Given the description of an element on the screen output the (x, y) to click on. 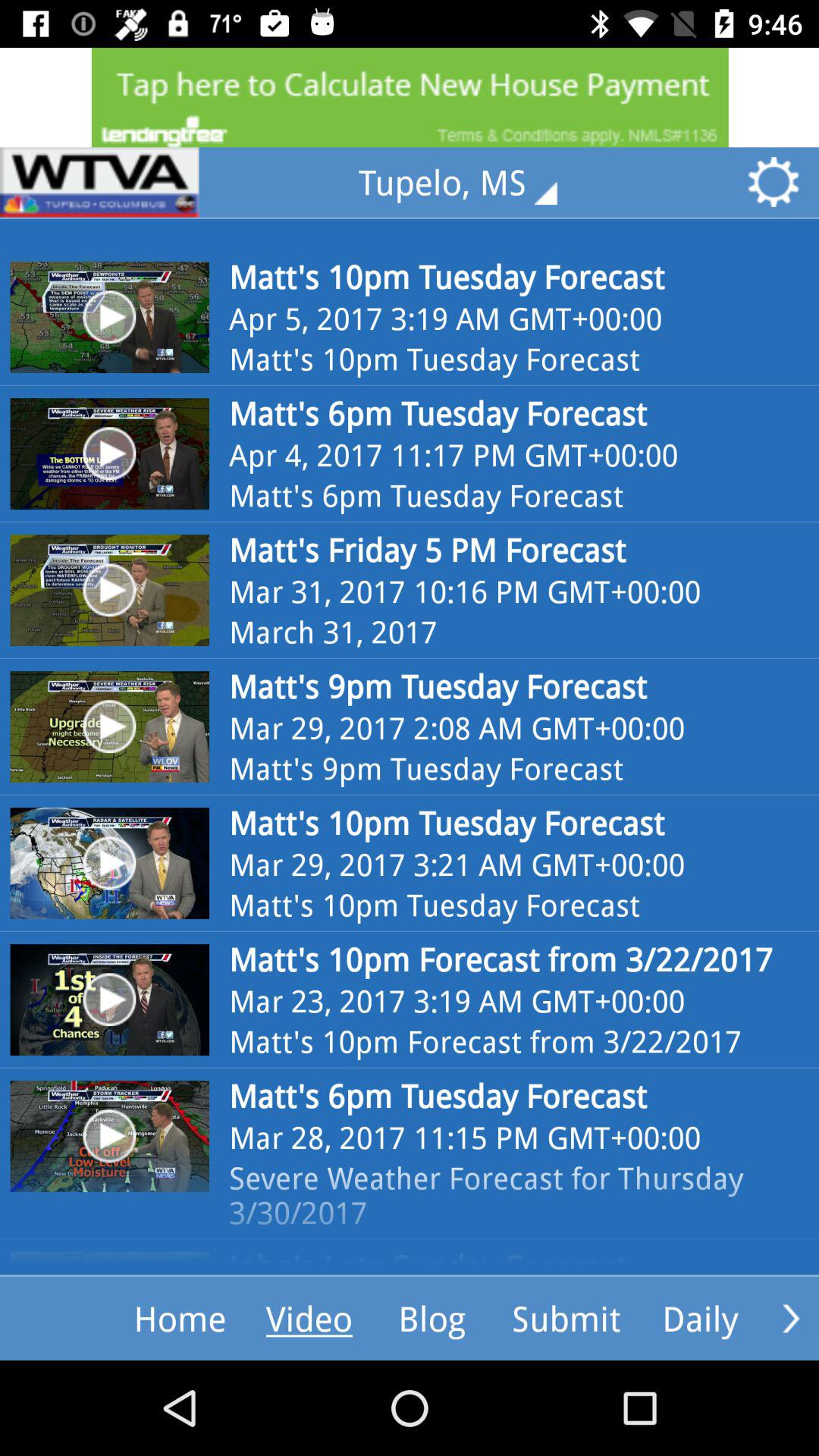
click on advertisement (409, 97)
